Given the description of an element on the screen output the (x, y) to click on. 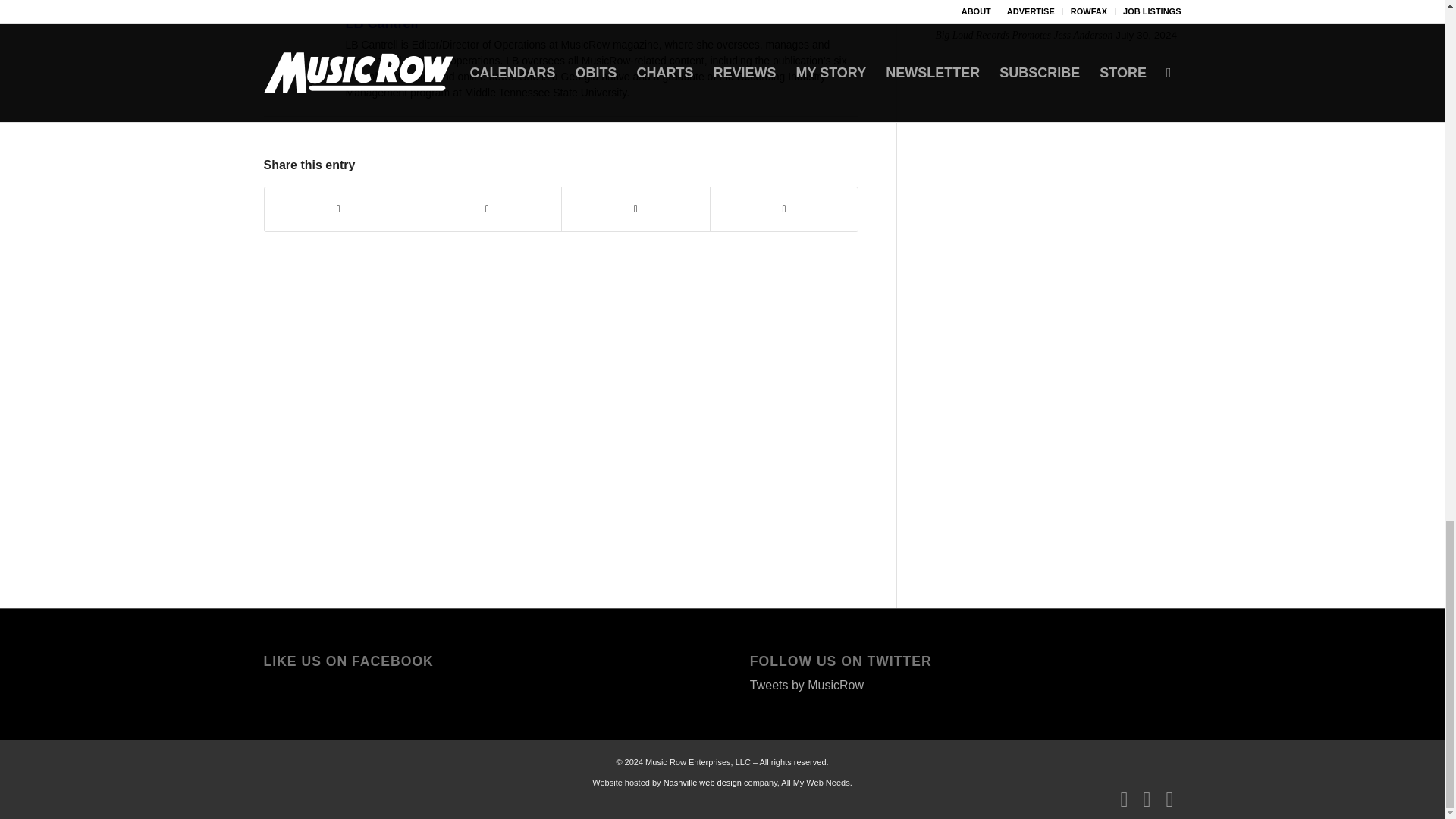
LB Cantrell (303, 31)
LB Cantrell (382, 23)
